Given the description of an element on the screen output the (x, y) to click on. 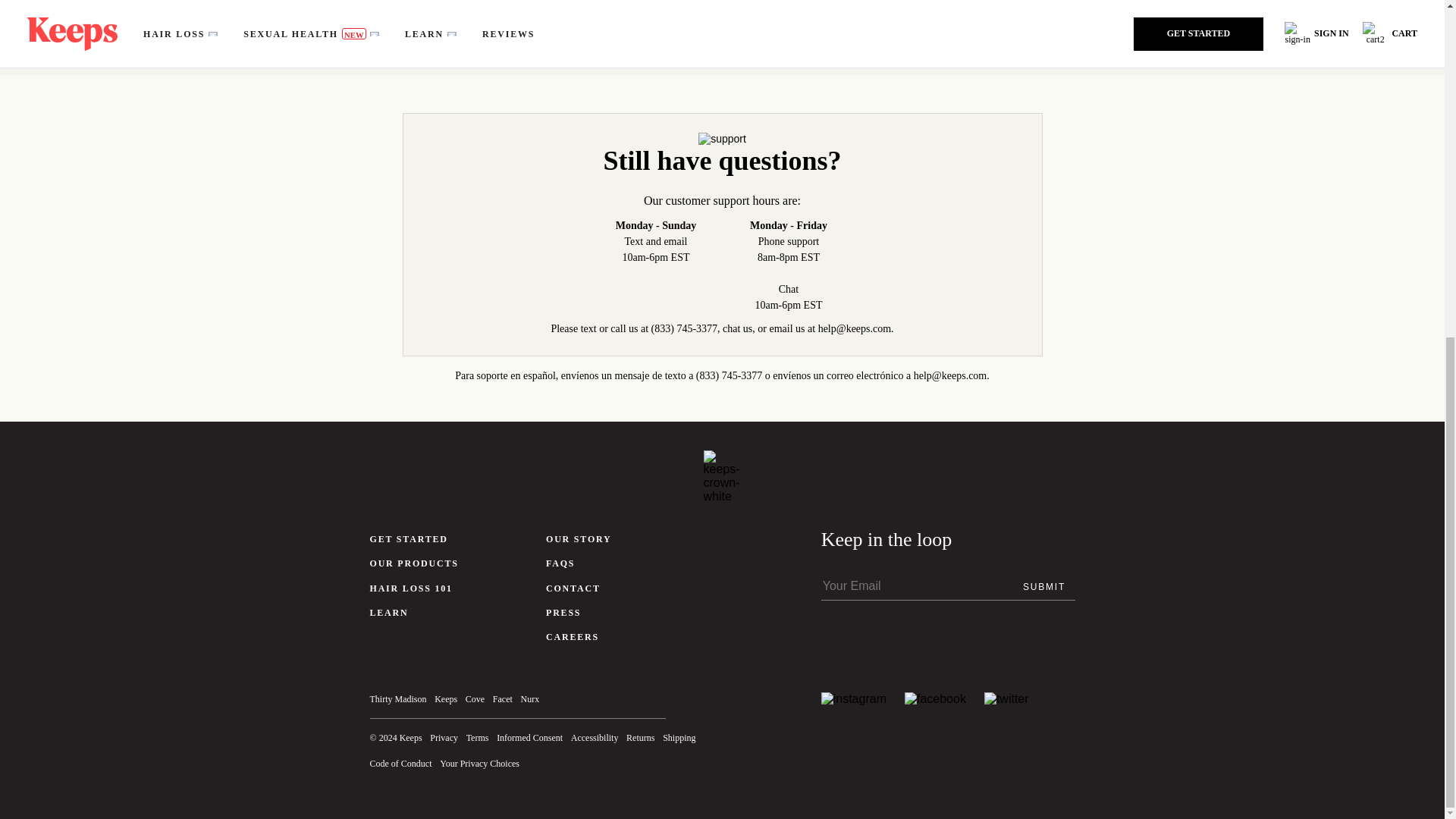
OUR PRODUCTS (413, 562)
GET STARTED (408, 538)
HAIR LOSS 101 (410, 588)
Submit (1043, 585)
